Given the description of an element on the screen output the (x, y) to click on. 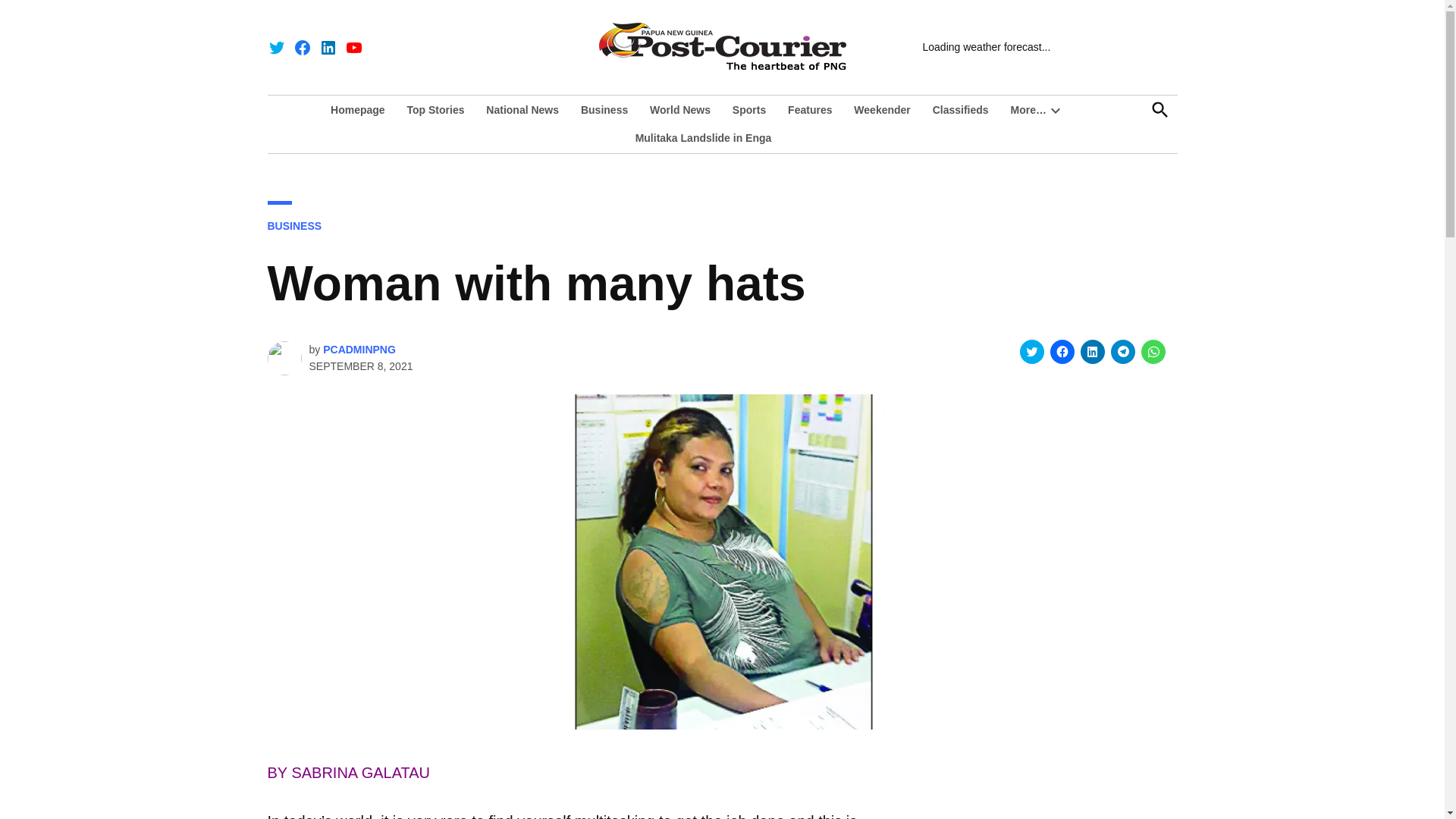
Twitter (275, 46)
Homepage (361, 109)
Click to share on Twitter (1031, 351)
Top Stories (434, 109)
Click to share on LinkedIn (1091, 351)
Facebook (301, 46)
LinkedIn (327, 46)
Click to share on Telegram (1121, 351)
Click to share on WhatsApp (1152, 351)
YouTube (352, 46)
Click to share on Facebook (1061, 351)
Post Courier (1025, 56)
